Given the description of an element on the screen output the (x, y) to click on. 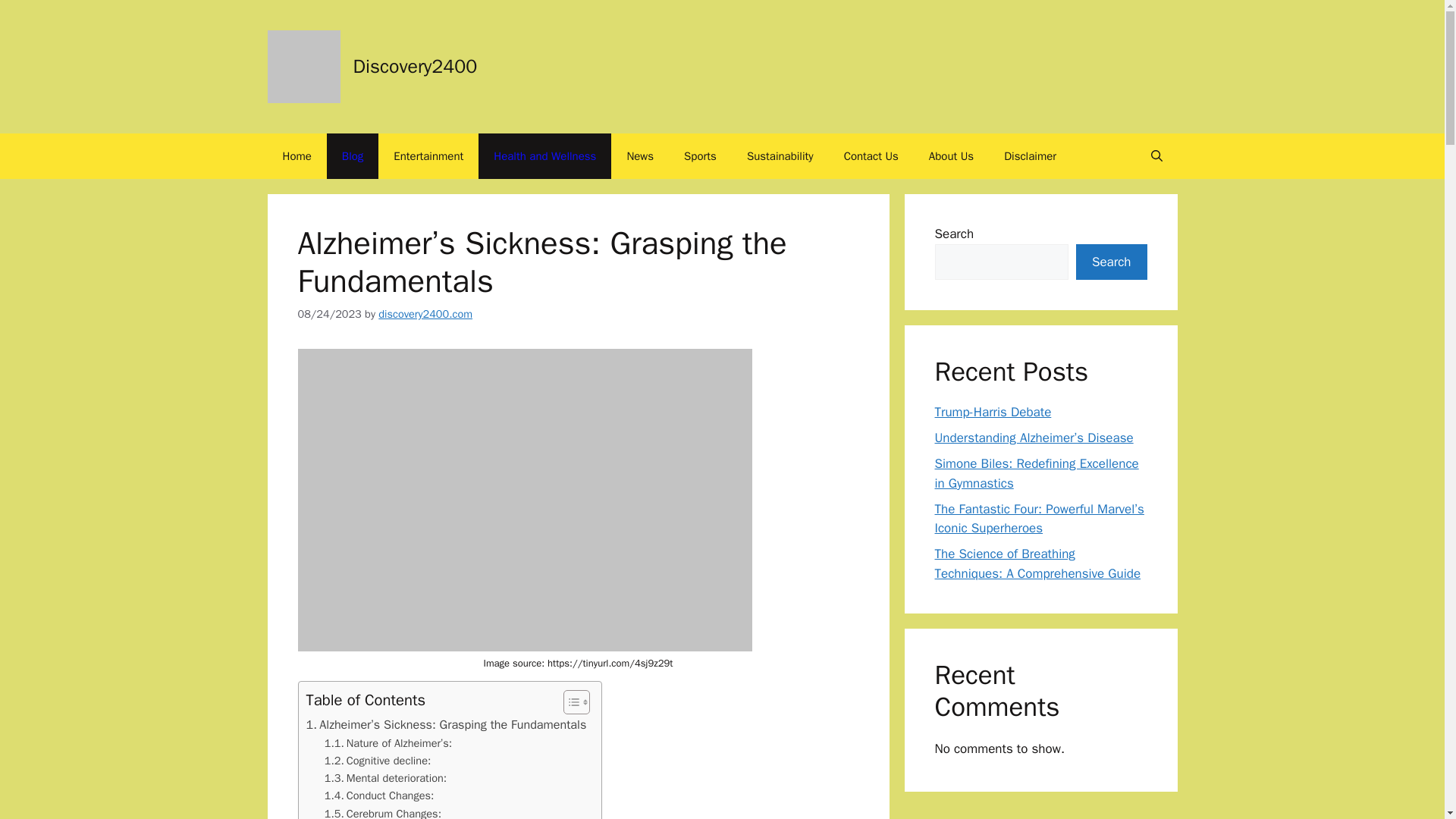
Mental deterioration: (385, 778)
Contact Us (871, 156)
About Us (951, 156)
Entertainment (428, 156)
Home (296, 156)
View all posts by discovery2400.com (424, 314)
News (639, 156)
Cognitive decline: (377, 760)
Discovery2400 (415, 65)
Conduct Changes: (378, 795)
Cerebrum Changes: (382, 812)
Cerebrum Changes: (382, 812)
Disclaimer (1029, 156)
Health and Wellness (545, 156)
Conduct Changes: (378, 795)
